Given the description of an element on the screen output the (x, y) to click on. 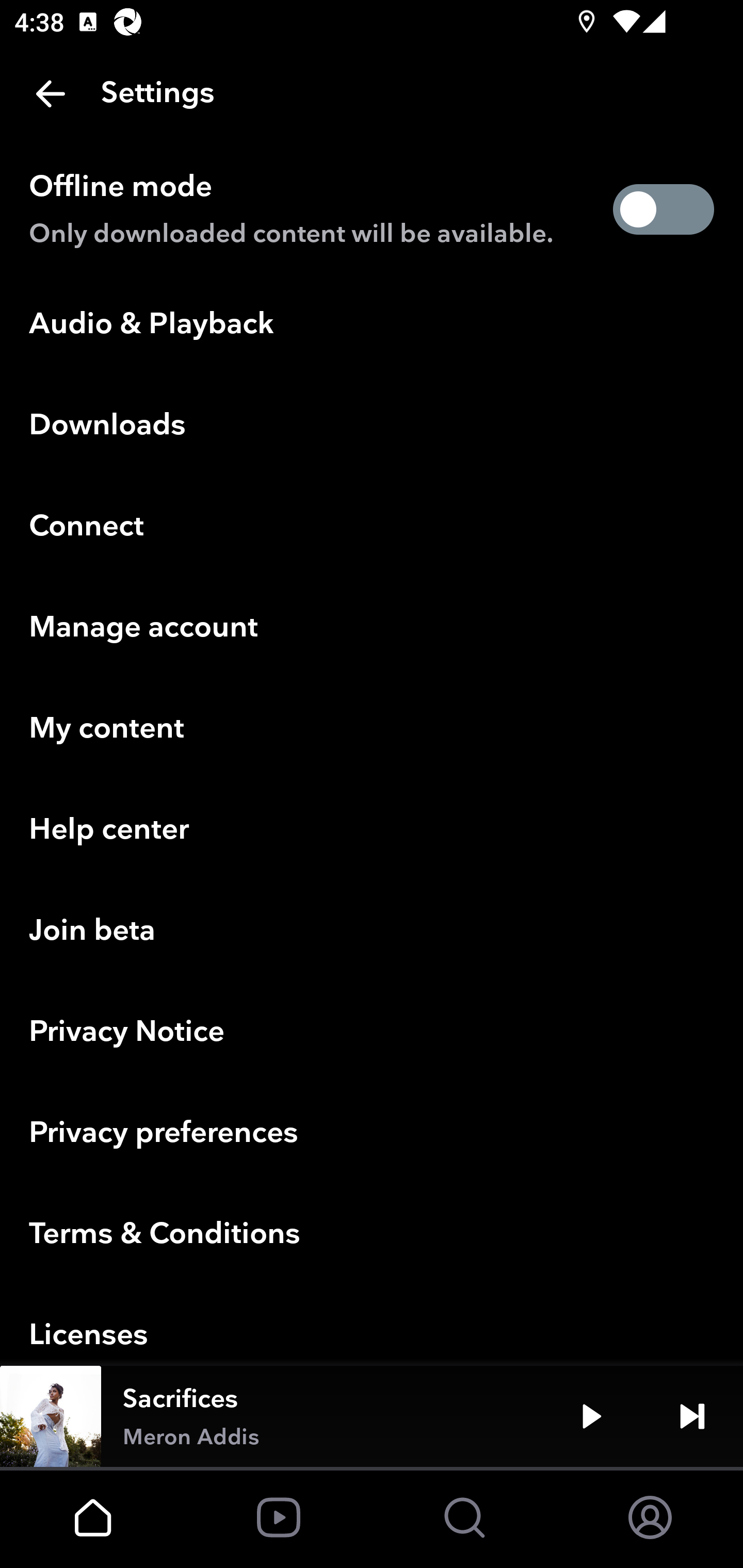
Back (50, 93)
Audio & Playback (371, 324)
Downloads (371, 425)
Connect (371, 526)
Manage account (371, 627)
My content (371, 728)
Help center (371, 830)
Join beta (371, 931)
Privacy Notice (371, 1032)
Privacy preferences (371, 1133)
Terms & Conditions (371, 1234)
Licenses (371, 1325)
Sacrifices Meron Addis Play (371, 1416)
Play (590, 1416)
